Given the description of an element on the screen output the (x, y) to click on. 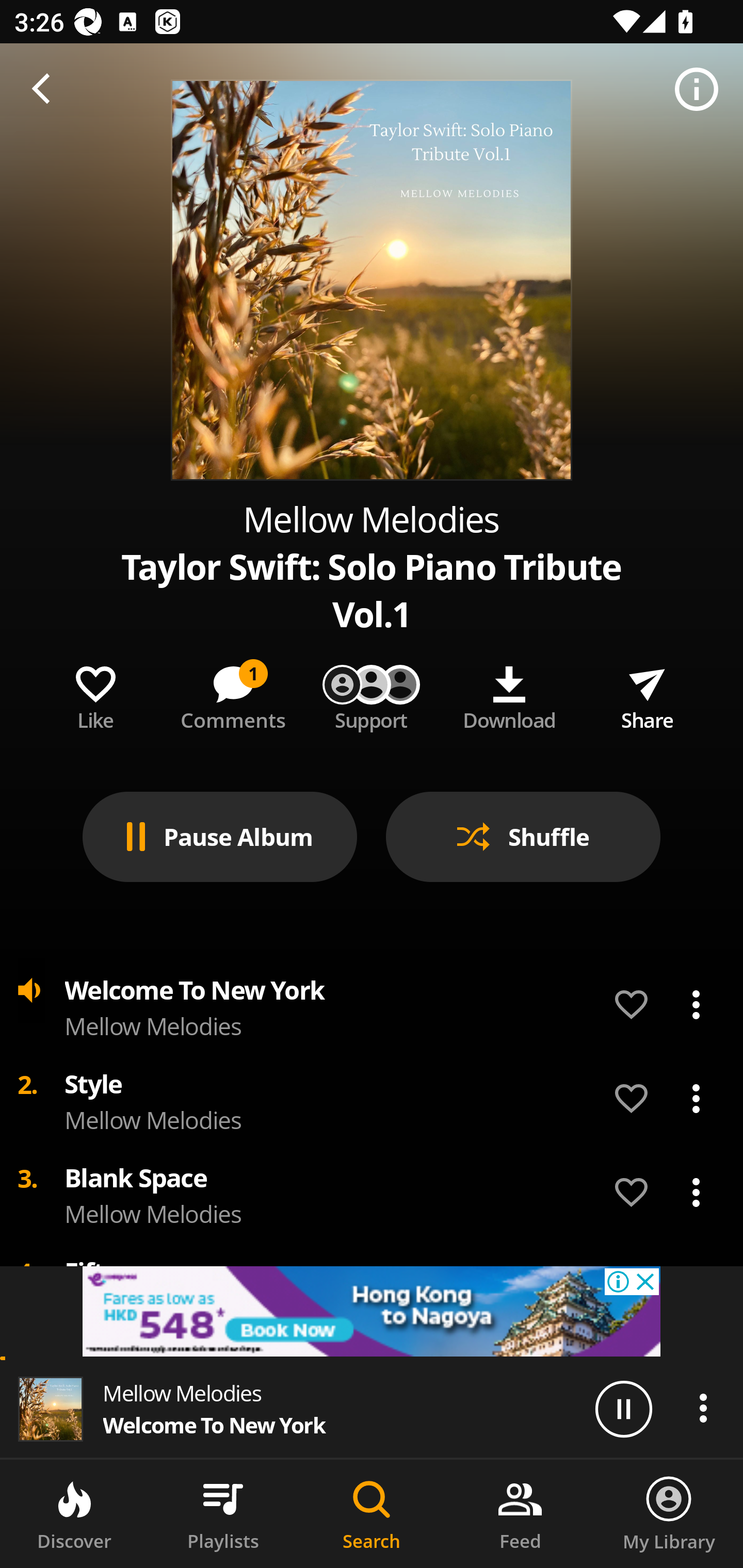
Close (46, 89)
Music info (696, 89)
Like (95, 694)
Comment Comment 1 Comments (233, 694)
Support (371, 694)
Download (509, 694)
Share (647, 694)
Pause Album (219, 836)
Shuffle (522, 836)
Welcome To New York Mellow Melodies Actions (371, 1005)
Actions (695, 1005)
2. Style Mellow Melodies Actions (371, 1099)
Actions (695, 1098)
3. Blank Space Mellow Melodies Actions (371, 1192)
Actions (695, 1192)
Advertisement (371, 1311)
Actions (703, 1407)
Play/Pause (623, 1408)
Discover (74, 1513)
Playlists (222, 1513)
Search (371, 1513)
Feed (519, 1513)
My Library (668, 1513)
